Given the description of an element on the screen output the (x, y) to click on. 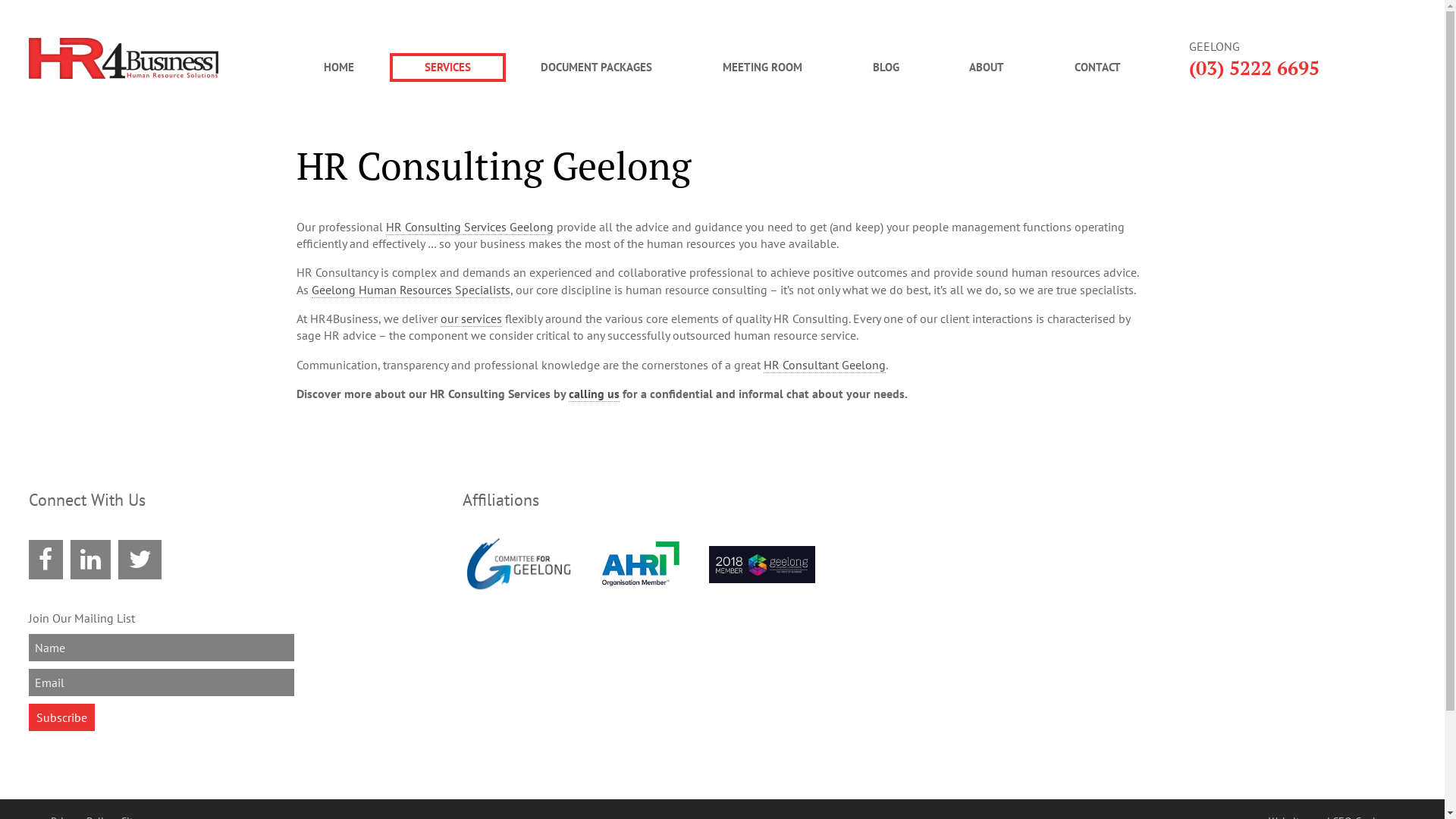
calling us Element type: text (593, 393)
HR Consulting Services Geelong Element type: text (469, 226)
CONTACT Element type: text (1096, 67)
MEETING ROOM Element type: text (762, 67)
HR Consultant Geelong Element type: text (824, 365)
ABOUT Element type: text (986, 67)
SERVICES Element type: text (447, 67)
DOCUMENT PACKAGES Element type: text (596, 67)
Geelong Human Resources Specialists Element type: text (410, 290)
our services Element type: text (471, 318)
HOME Element type: text (338, 67)
Subscribe Element type: text (61, 717)
BLOG Element type: text (885, 67)
